Given the description of an element on the screen output the (x, y) to click on. 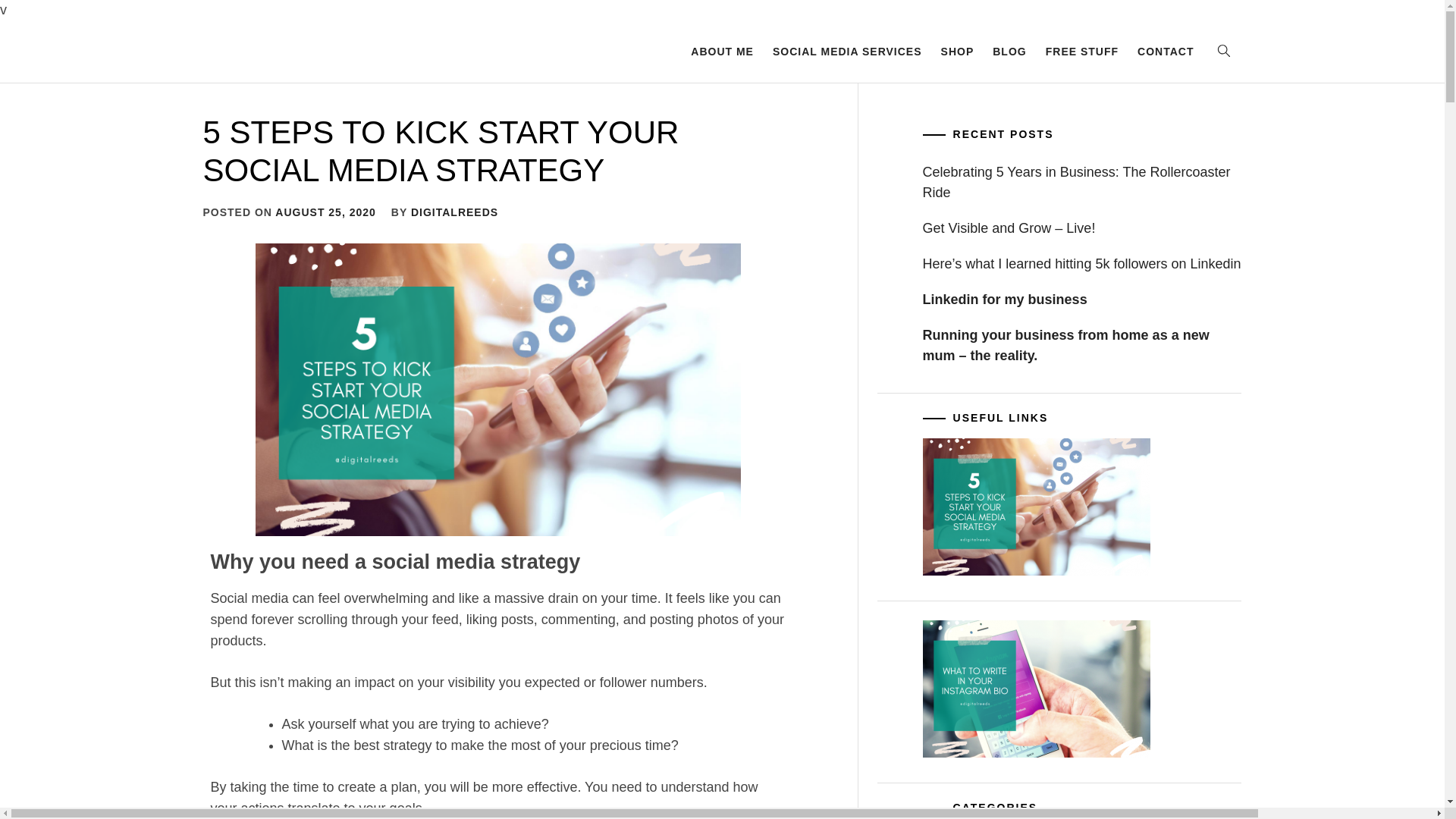
BLOG (1009, 51)
ABOUT ME (721, 51)
CONTACT (1165, 51)
SHOP (957, 51)
Search (797, 402)
AUGUST 25, 2020 (325, 212)
SOCIAL MEDIA SERVICES (847, 51)
DIGITALREEDS (453, 212)
FREE STUFF (1081, 51)
